Given the description of an element on the screen output the (x, y) to click on. 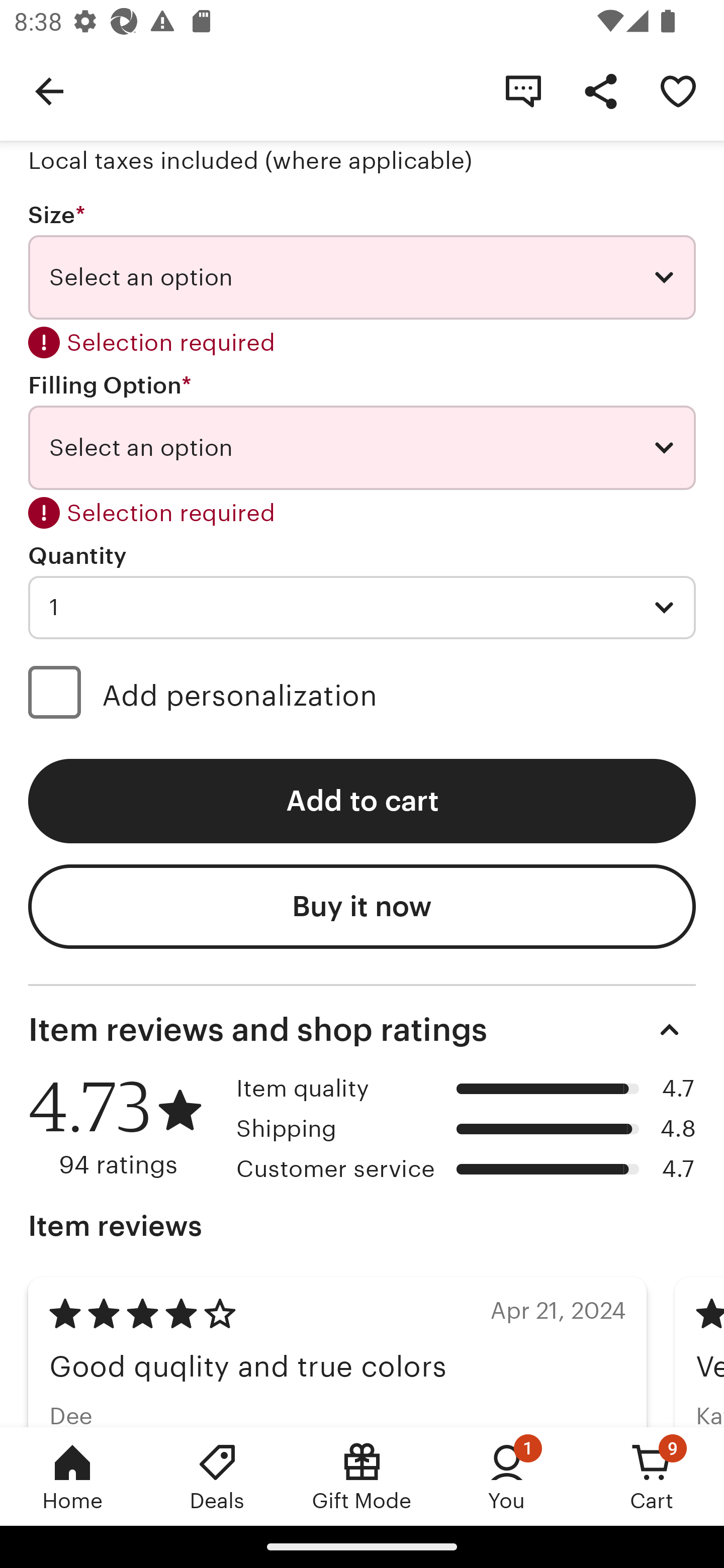
Navigate up (49, 90)
Contact shop (523, 90)
Share (600, 90)
Select an option (361, 277)
Select an option (361, 447)
Quantity (77, 555)
1 (361, 607)
Add personalization (optional) Add personalization (362, 695)
Add to cart (361, 800)
Buy it now (361, 905)
Item reviews and shop ratings (362, 1029)
4.73 94 ratings (125, 1127)
Deals (216, 1475)
Gift Mode (361, 1475)
You, 1 new notification You (506, 1475)
Cart, 9 new notifications Cart (651, 1475)
